Given the description of an element on the screen output the (x, y) to click on. 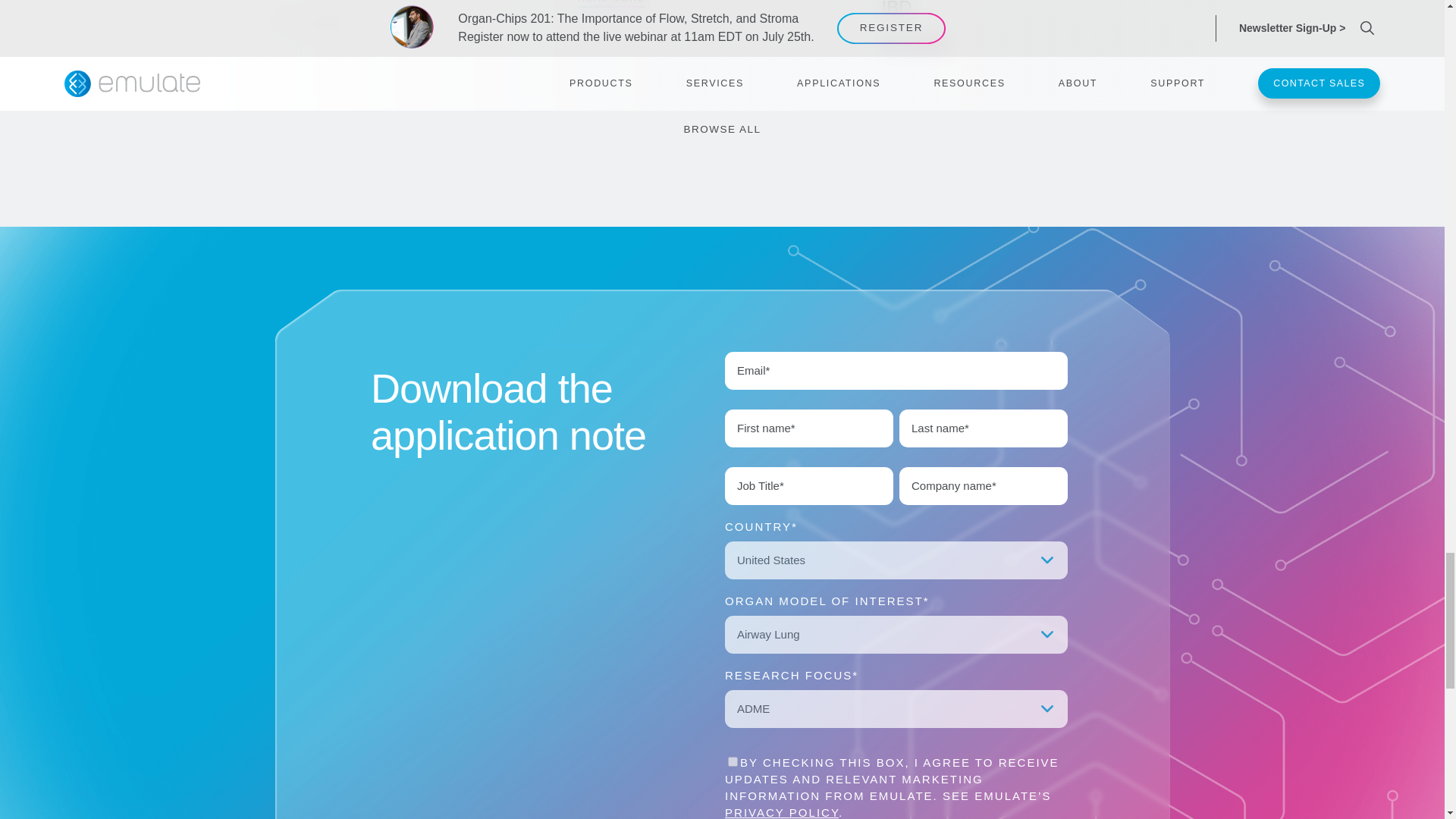
true (733, 761)
